Given the description of an element on the screen output the (x, y) to click on. 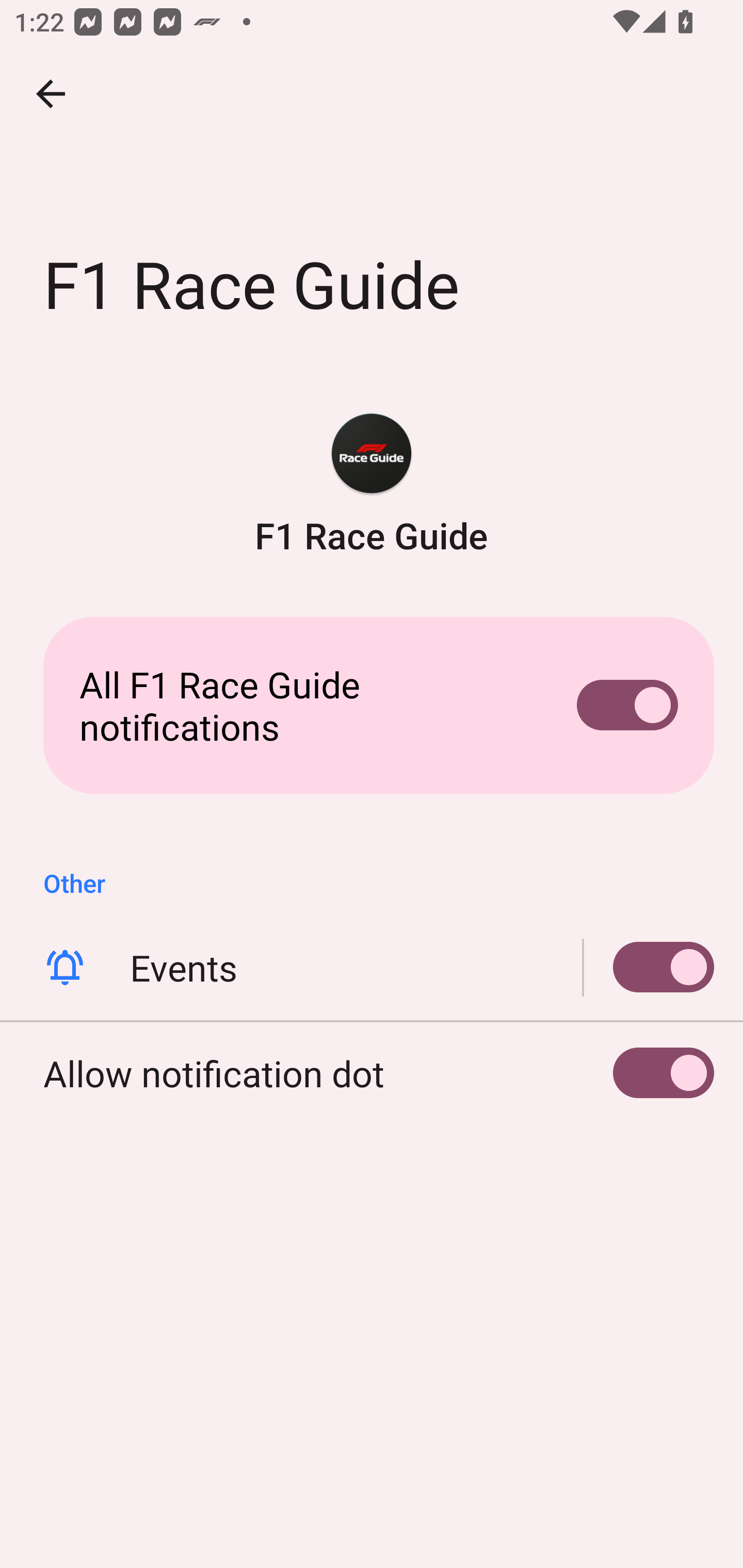
Navigate up (50, 93)
F1 Race Guide (371, 484)
All F1 Race Guide notifications (371, 705)
Events (371, 967)
Events (648, 967)
Allow notification dot (371, 1072)
